Given the description of an element on the screen output the (x, y) to click on. 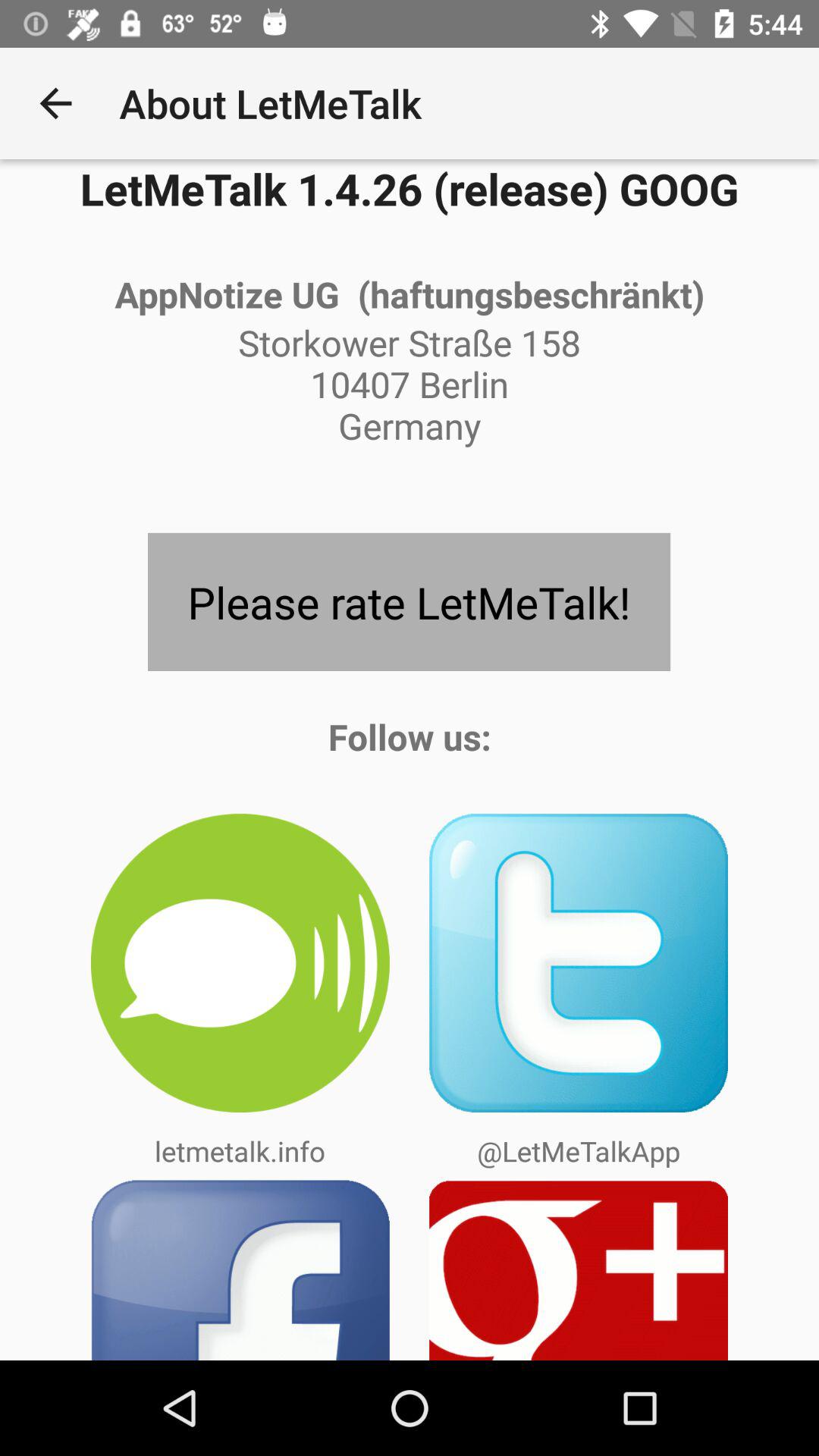
press app above the @letmetalkapp app (578, 962)
